Given the description of an element on the screen output the (x, y) to click on. 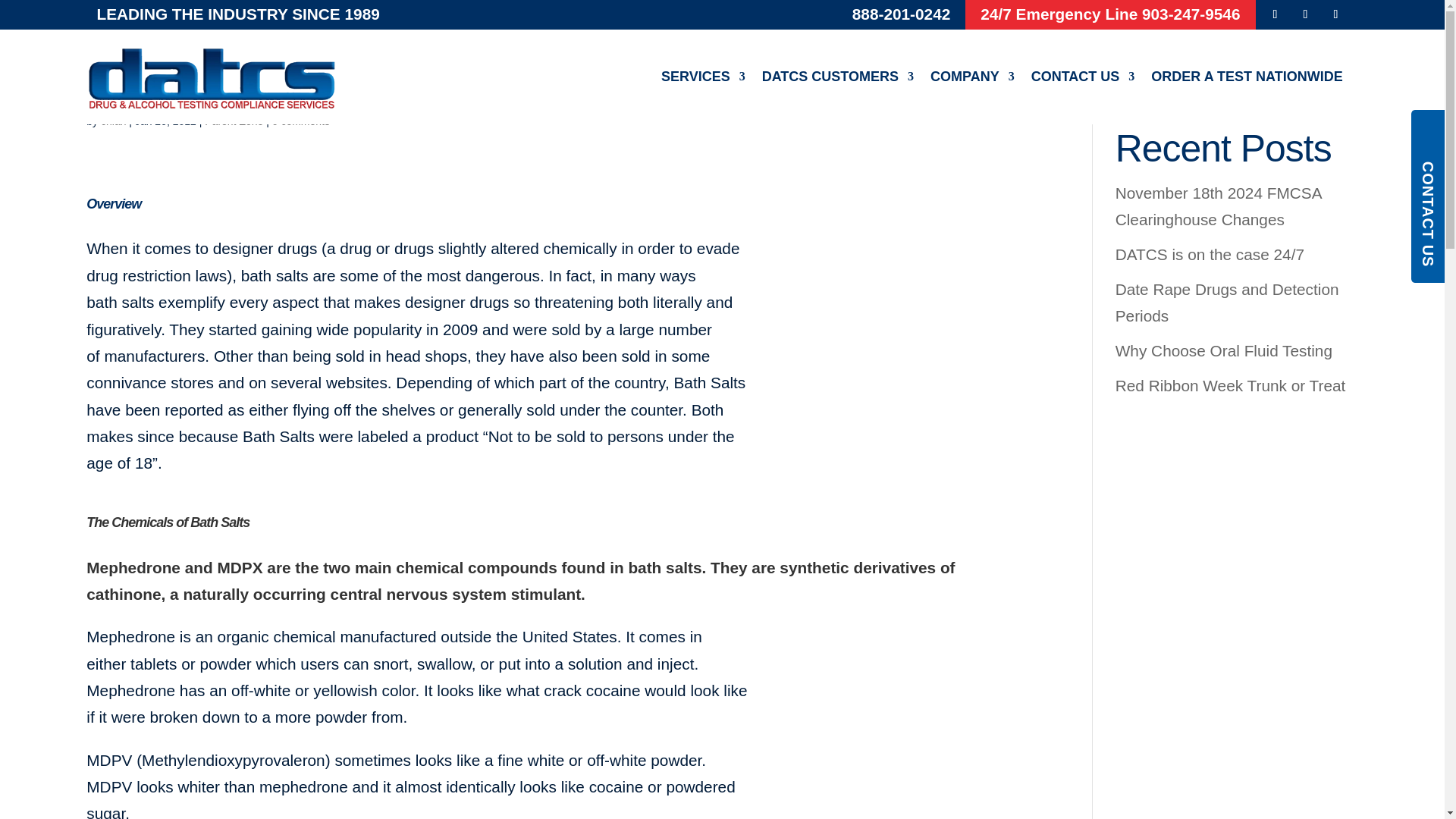
SERVICES (703, 76)
DATCS CUSTOMERS (837, 76)
Posts by chian (112, 121)
ORDER A TEST NATIONWIDE (1246, 76)
CONTACT US (1082, 76)
Follow on Instagram (1335, 14)
Follow on LinkedIn (1305, 14)
COMPANY (972, 76)
Follow on Facebook (1275, 14)
